Given the description of an element on the screen output the (x, y) to click on. 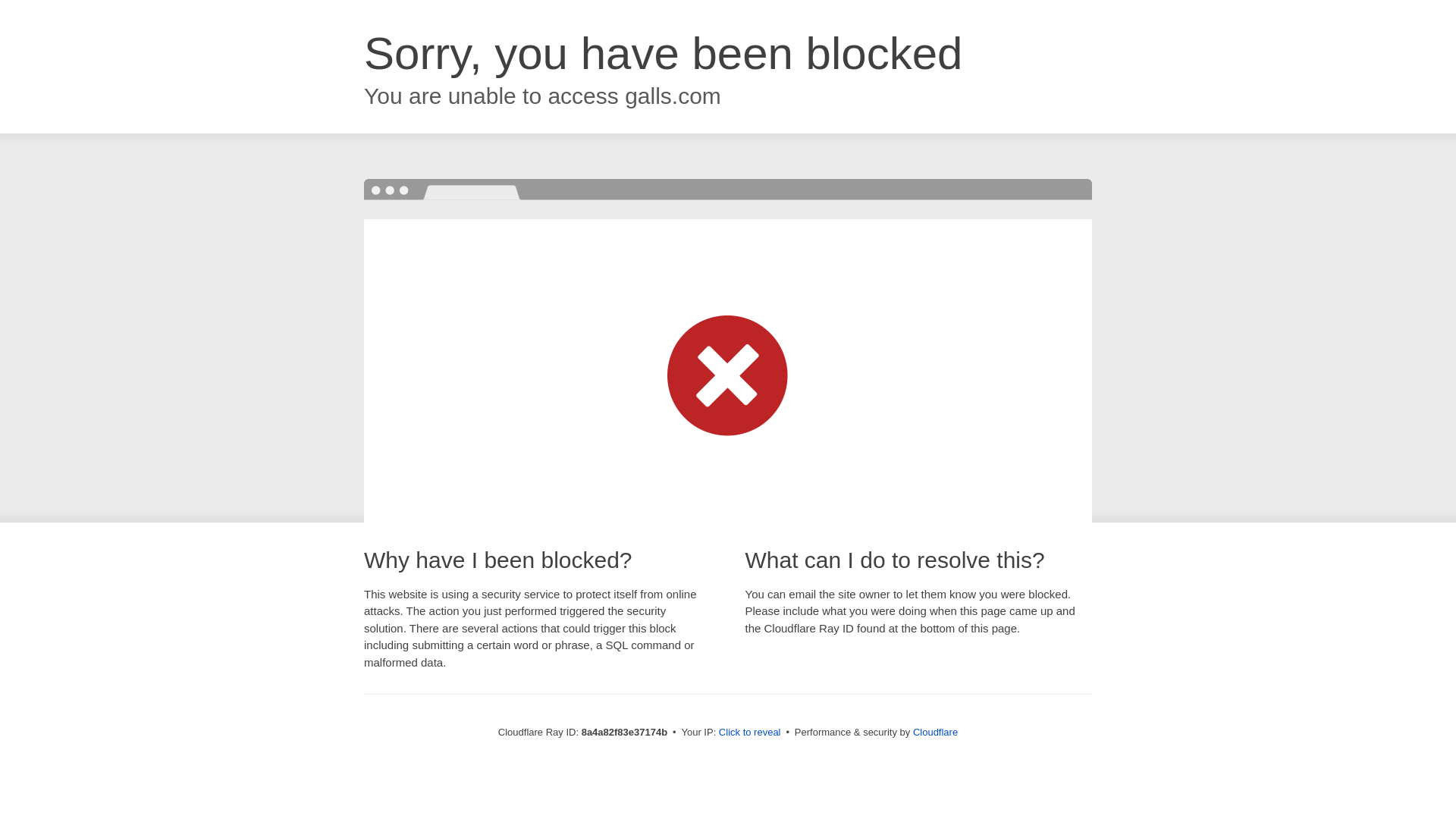
Cloudflare (935, 731)
Click to reveal (749, 732)
